Given the description of an element on the screen output the (x, y) to click on. 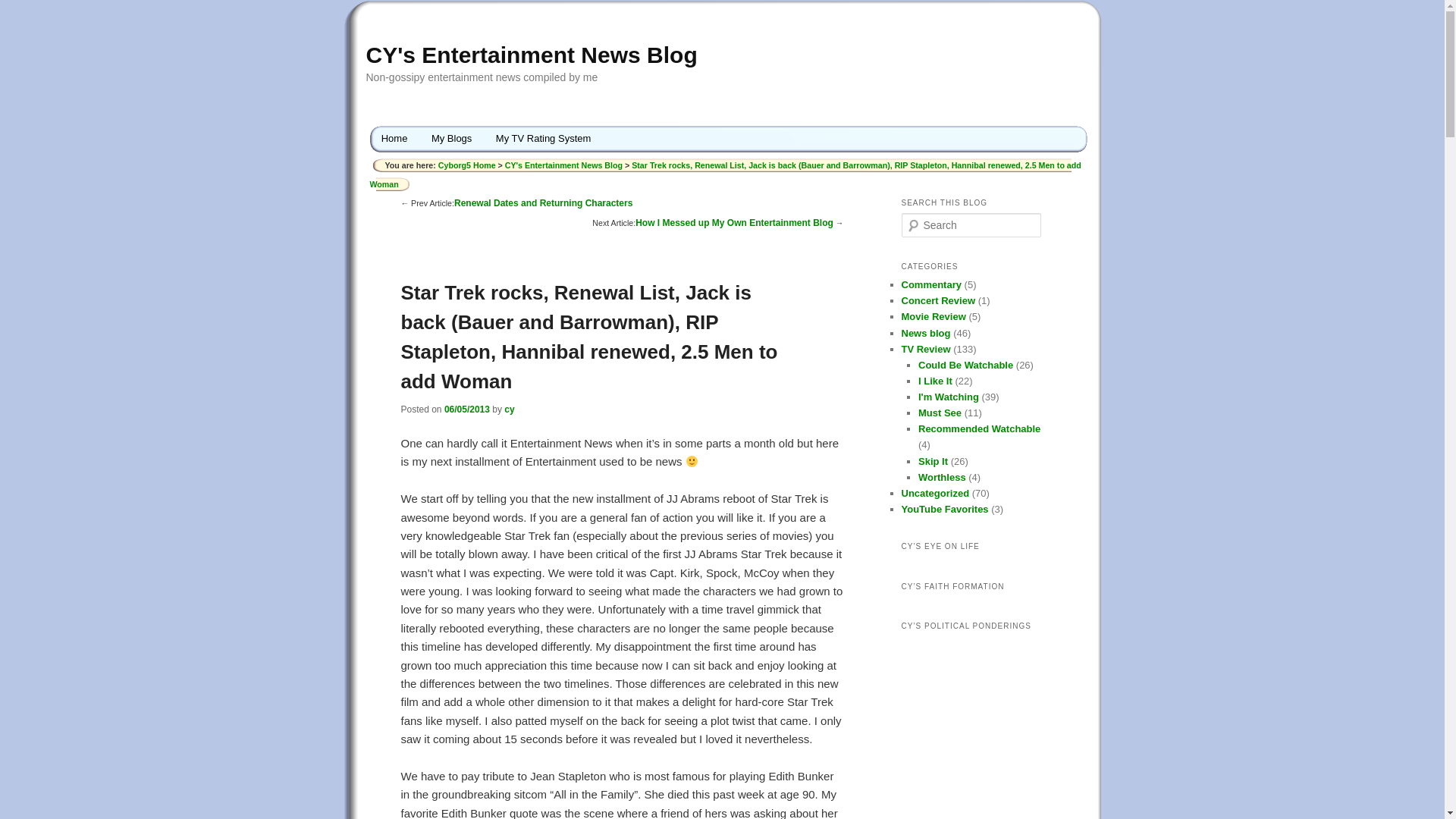
Renewal Dates and Returning Characters (542, 203)
Concert Review (938, 300)
I Like It (935, 380)
CY's Entertainment News Blog (564, 164)
News blog (925, 333)
CY's Entertainment News Blog (531, 54)
Could Be Watchable (965, 365)
Movie Review (933, 316)
How I Messed up My Own Entertainment Blog (733, 222)
Cyborg5 Home (467, 164)
